Given the description of an element on the screen output the (x, y) to click on. 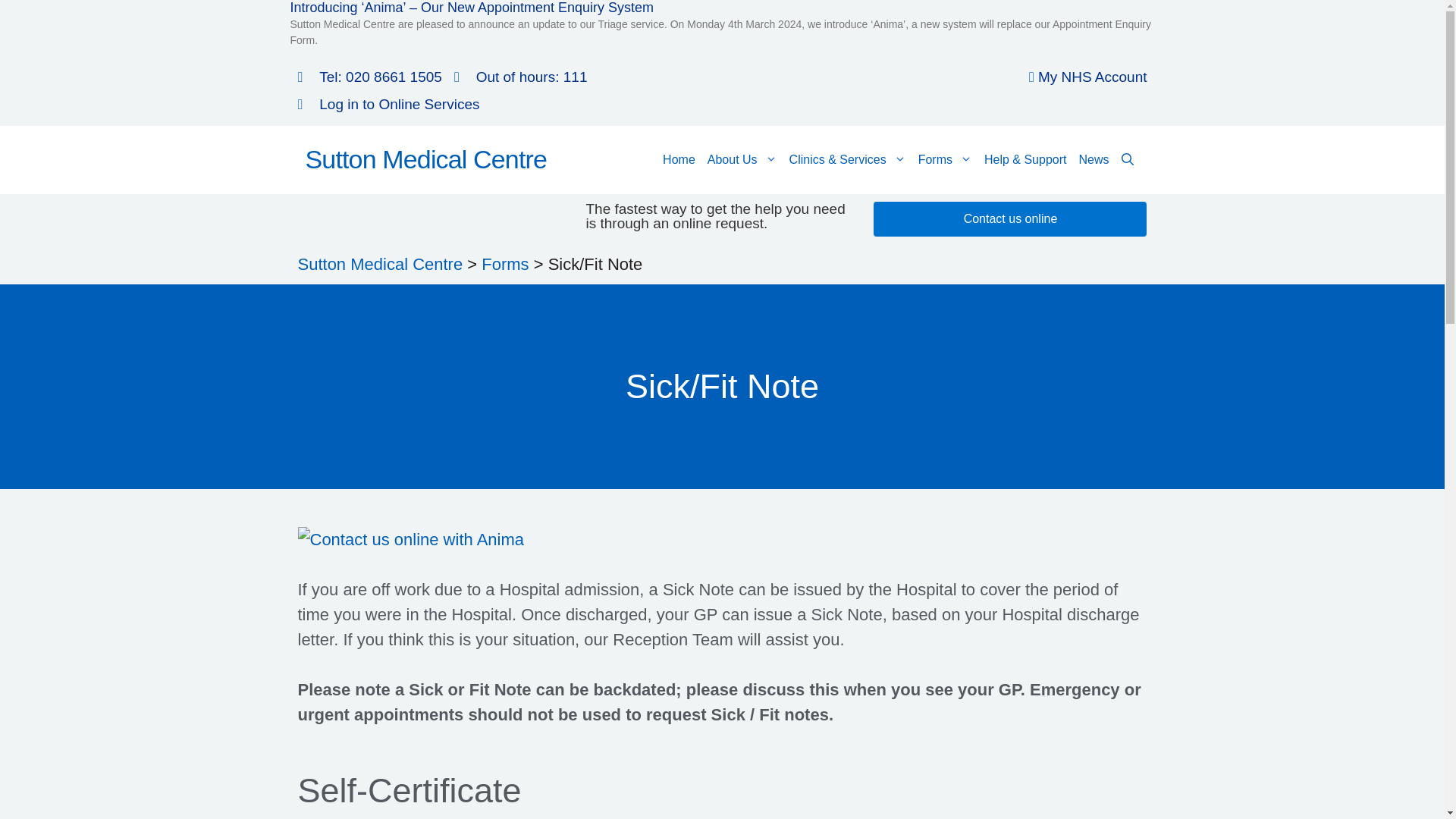
Tel: 020 8661 1505 (369, 76)
My NHS Account (1081, 76)
Home (678, 159)
Go to Sutton Medical Centre. (380, 263)
Out of hours: 111 (521, 76)
About Us (742, 159)
Go to Forms. (504, 263)
Log in to Online Services (388, 103)
Sutton Medical Centre (425, 158)
